Given the description of an element on the screen output the (x, y) to click on. 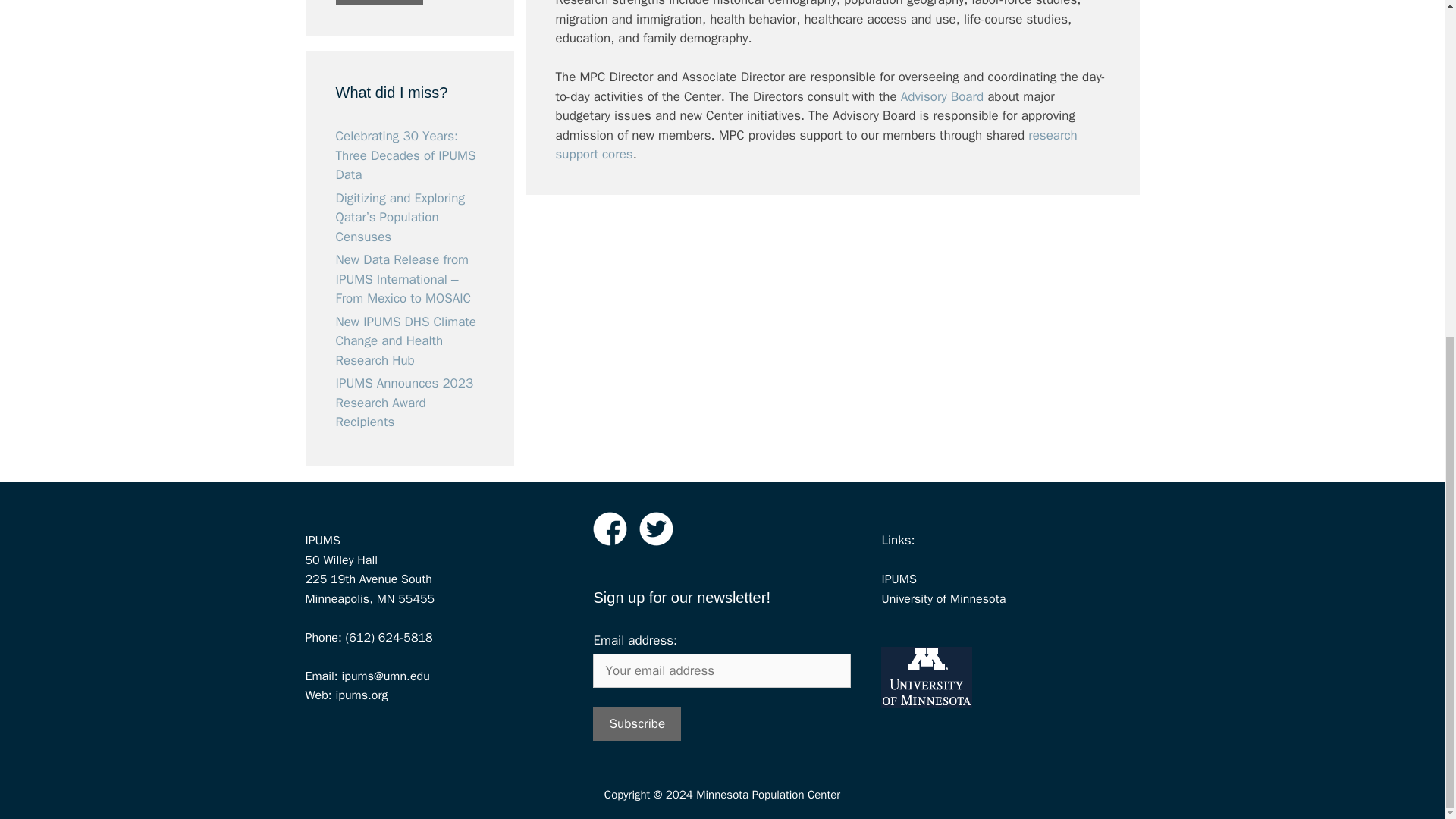
Advisory Board (942, 96)
Subscribe (636, 723)
New IPUMS DHS Climate Change and Health Research Hub (405, 339)
IPUMS Announces 2023 Research Award Recipients (403, 402)
Celebrating 30 Years: Three Decades of IPUMS Data (405, 154)
Subscribe (378, 2)
ipums.org (359, 694)
University of Minnesota (943, 598)
research support cores (815, 144)
Subscribe (636, 723)
